Given the description of an element on the screen output the (x, y) to click on. 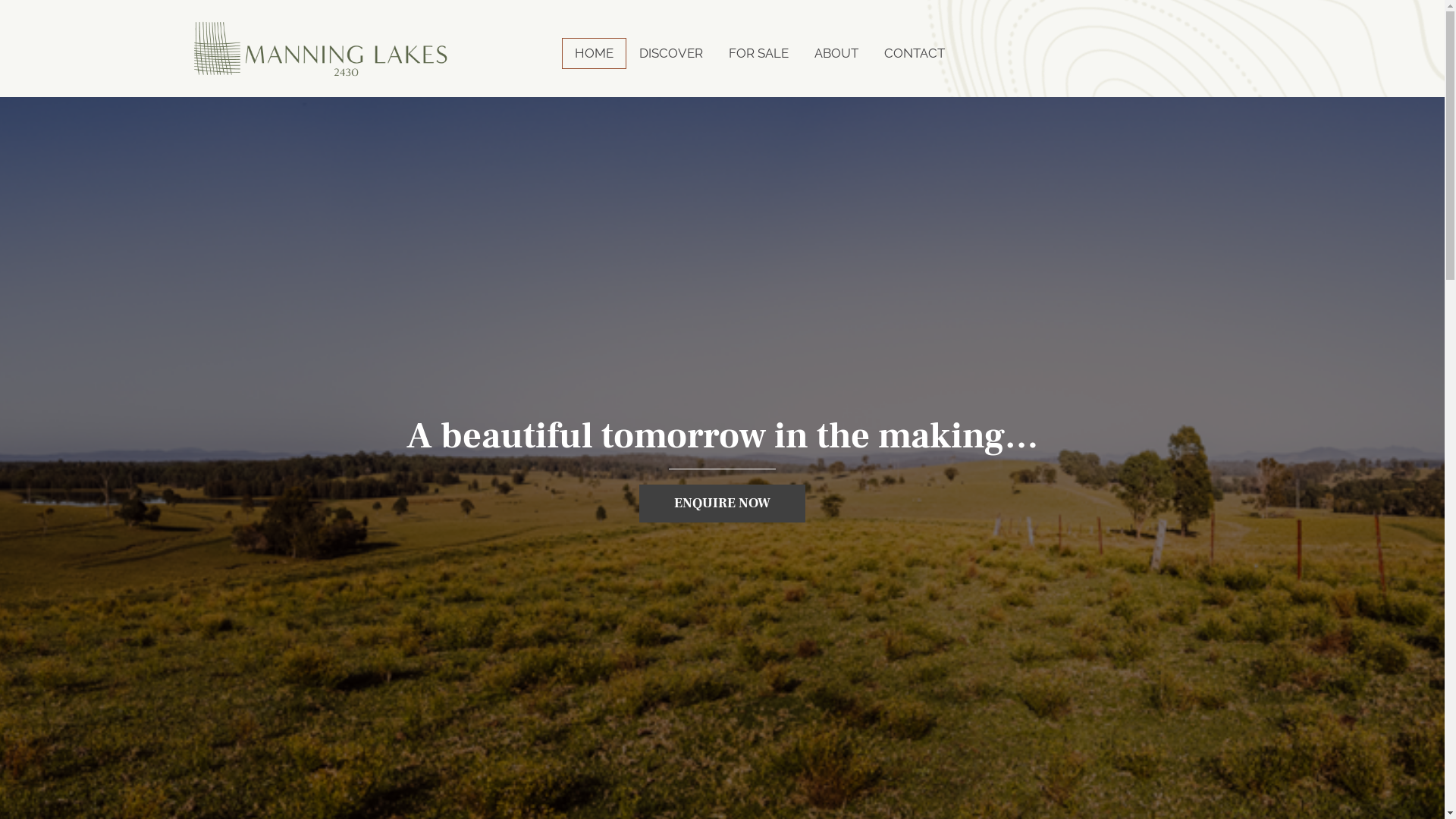
ENQUIRE NOW Element type: text (722, 503)
ABOUT Element type: text (836, 53)
FOR SALE Element type: text (758, 53)
CONTACT Element type: text (914, 53)
HOME Element type: text (593, 53)
DISCOVER Element type: text (670, 53)
